Given the description of an element on the screen output the (x, y) to click on. 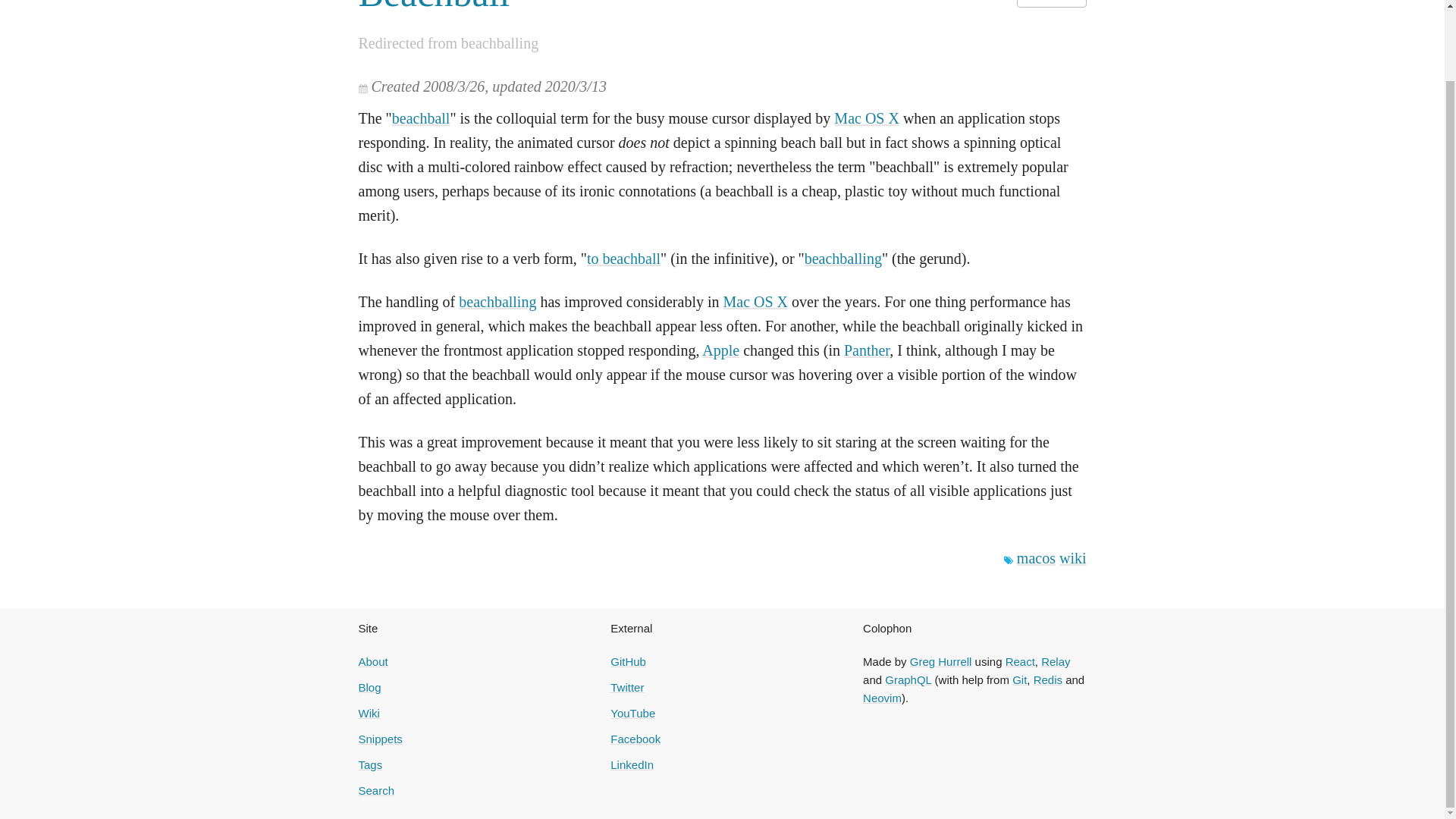
YouTube (632, 712)
Blog (369, 686)
EDIT (1051, 3)
Search (376, 789)
Apple (720, 350)
Twitter (626, 686)
beachball (420, 117)
macos (1035, 557)
Facebook (635, 738)
to beachball (623, 258)
Tags (369, 764)
Beachball (433, 7)
Snippets (379, 738)
Mac OS X (866, 117)
Relay (1055, 661)
